Given the description of an element on the screen output the (x, y) to click on. 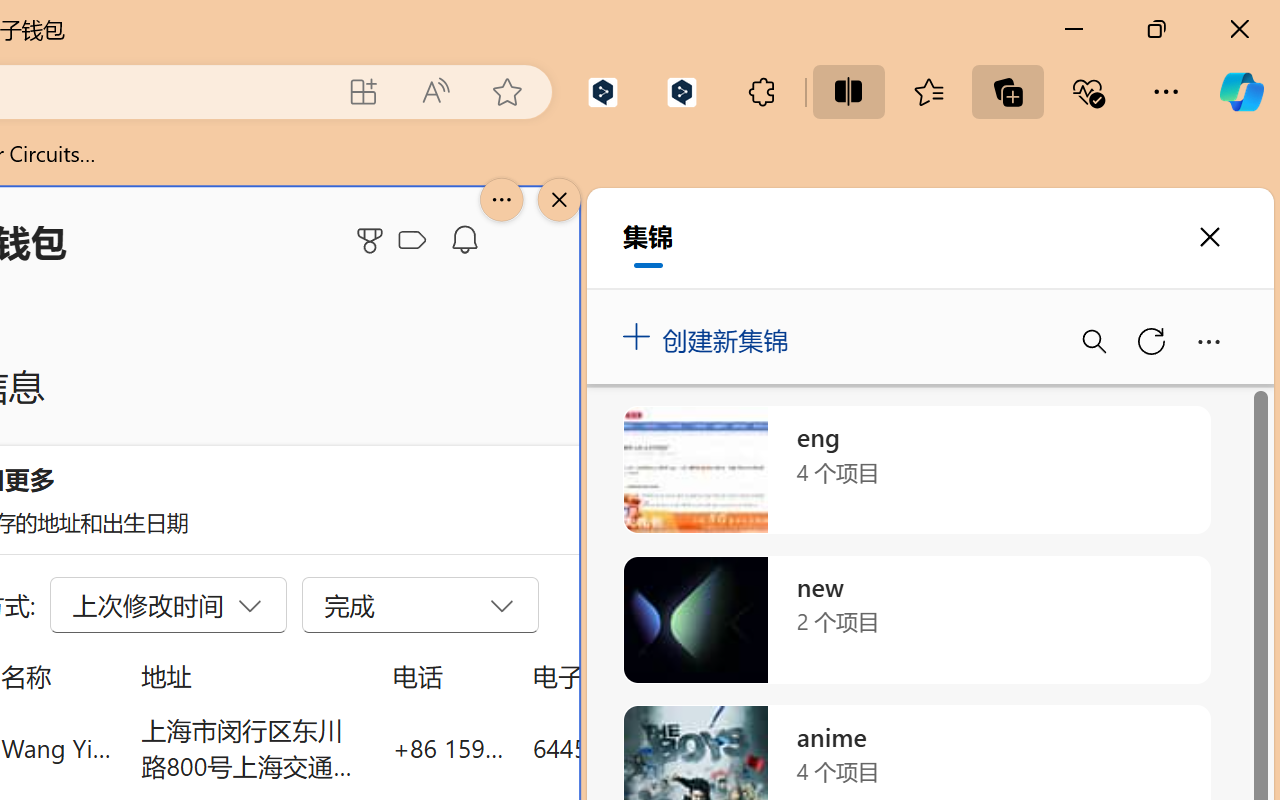
Copilot (Ctrl+Shift+.) (1241, 91)
